Given the description of an element on the screen output the (x, y) to click on. 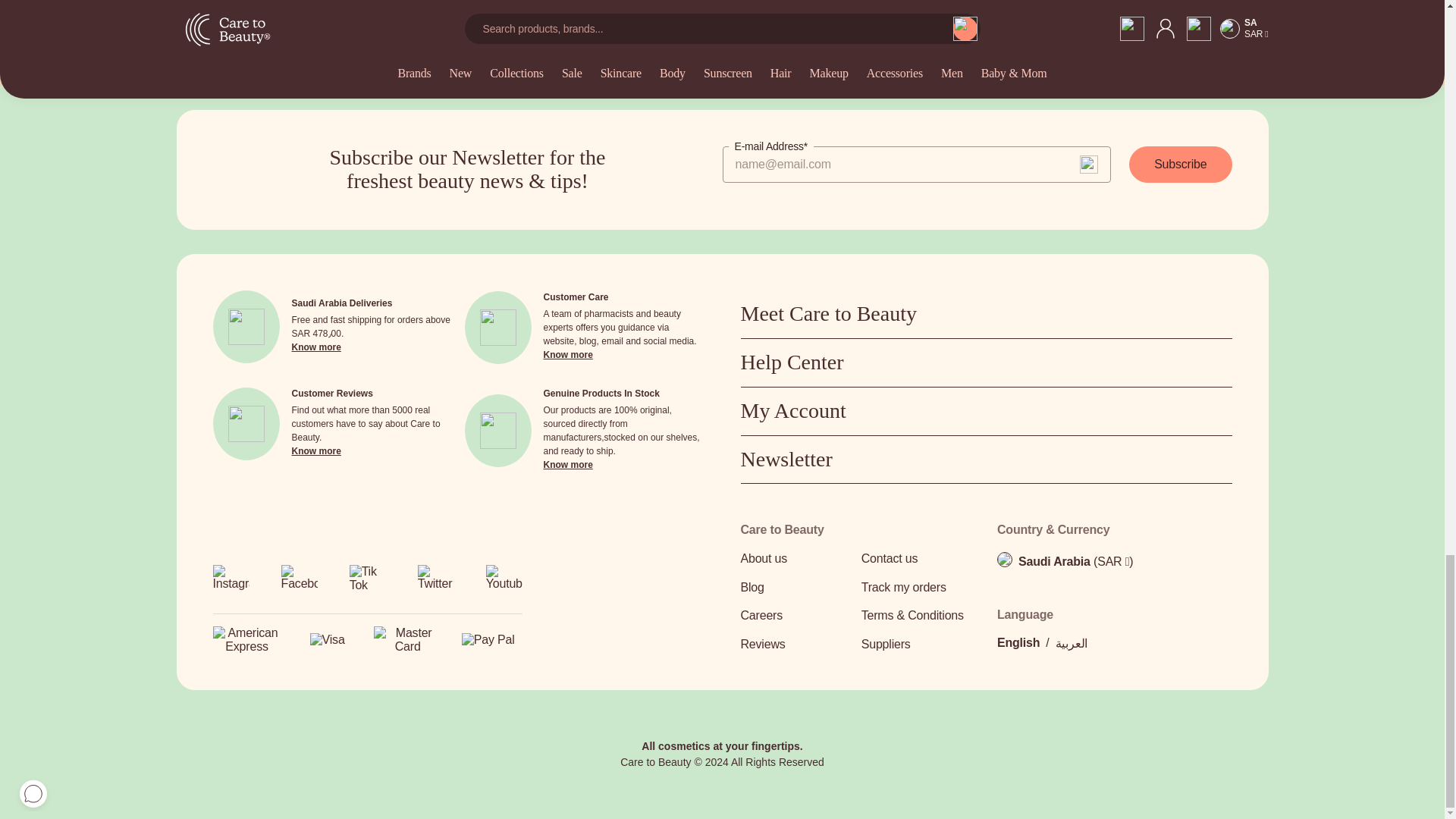
Facebook (299, 583)
Instagram (230, 583)
Careers (795, 615)
Instagram (230, 577)
Blog (795, 587)
Reviews (795, 644)
About us (795, 558)
Contact us (916, 558)
Newsletter (985, 459)
Track my orders (916, 587)
Help Center (985, 362)
Meet Care to Beauty (985, 314)
Suppliers (916, 644)
My Account (985, 410)
